Given the description of an element on the screen output the (x, y) to click on. 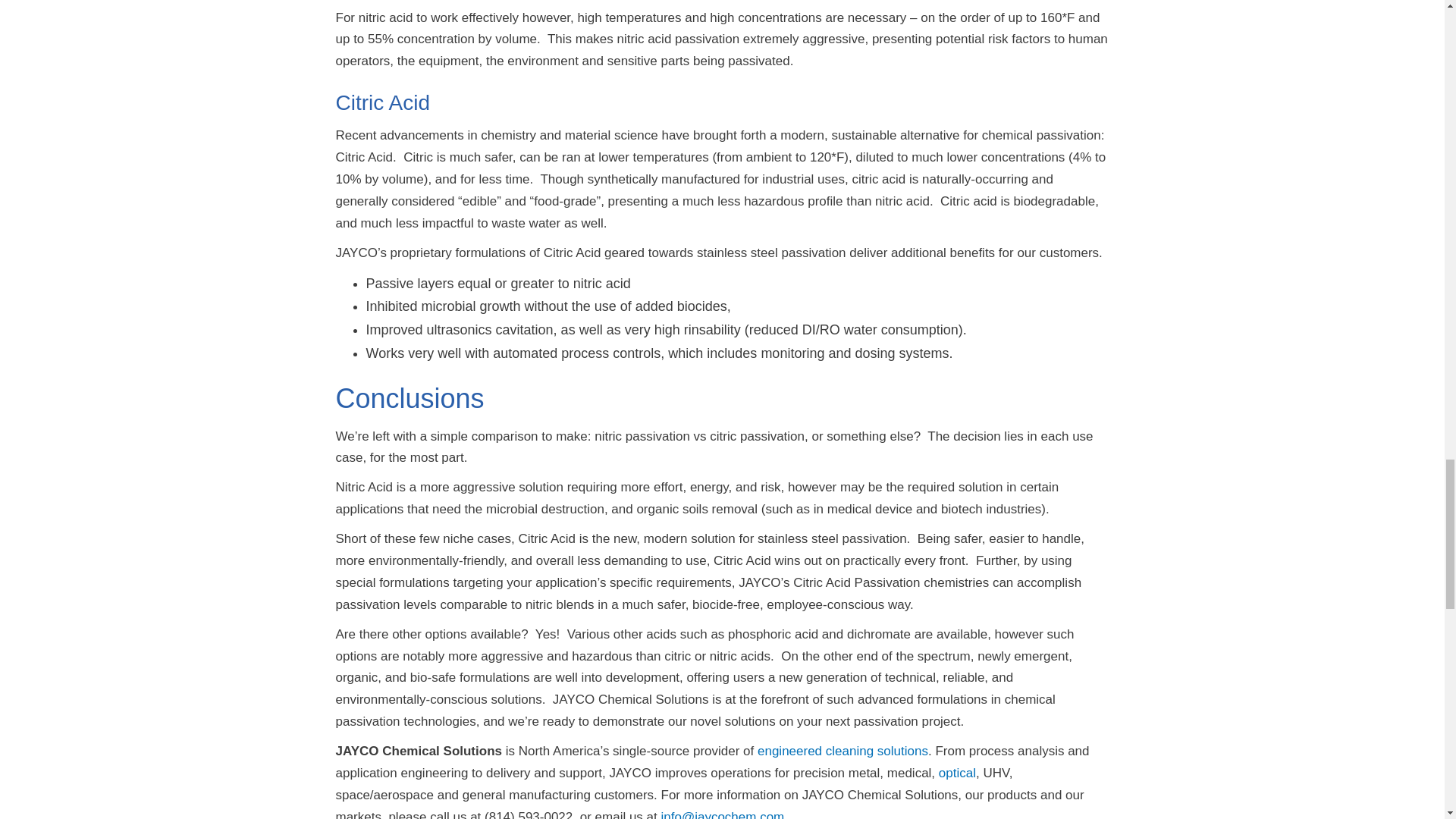
optical (957, 772)
engineered cleaning solutions (842, 750)
